Given the description of an element on the screen output the (x, y) to click on. 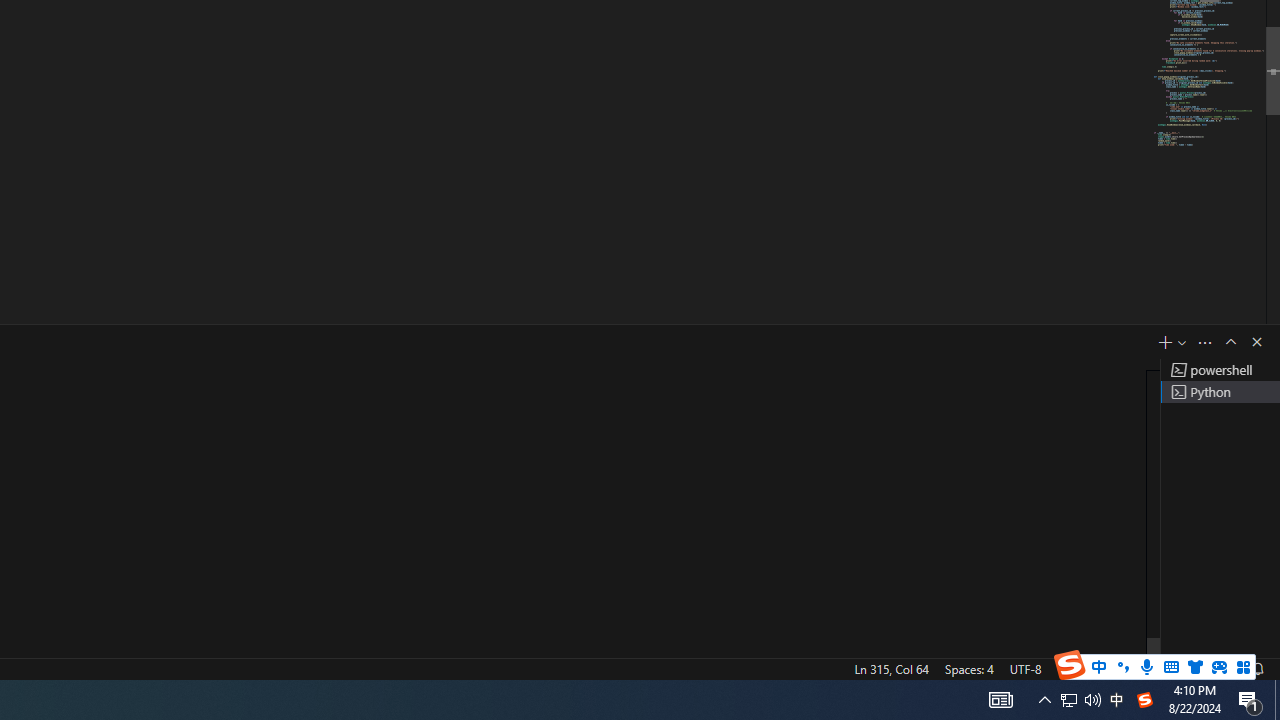
Disable Linked Styles (1094, 556)
Book Title (1130, 140)
Read Mode (864, 640)
Zoom In (1204, 640)
Intense Reference (1130, 111)
Focus  (786, 640)
Subtle Reference (1130, 83)
Options... (1203, 590)
Web Layout (984, 640)
